Given the description of an element on the screen output the (x, y) to click on. 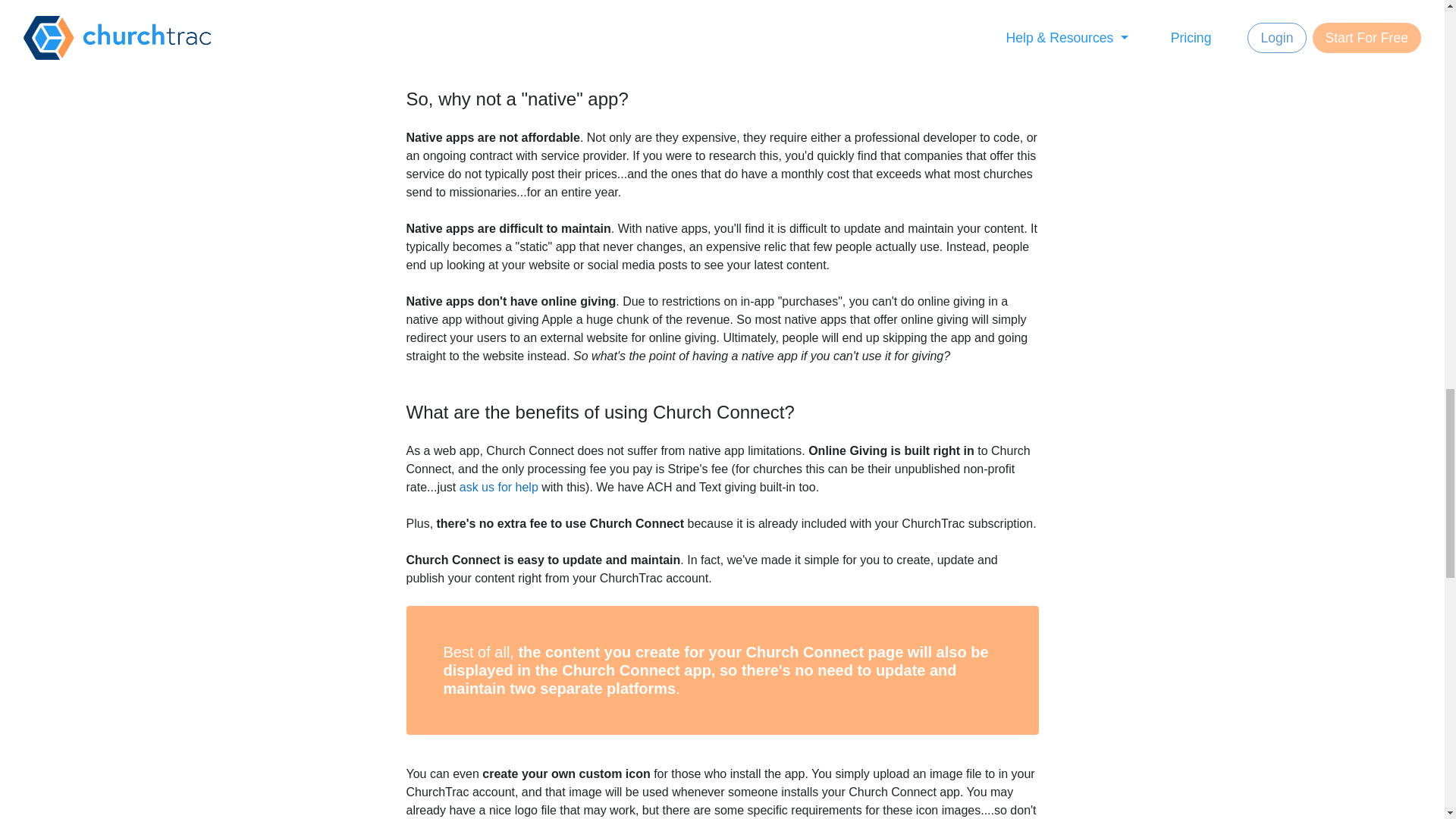
ask us for help (499, 486)
